Given the description of an element on the screen output the (x, y) to click on. 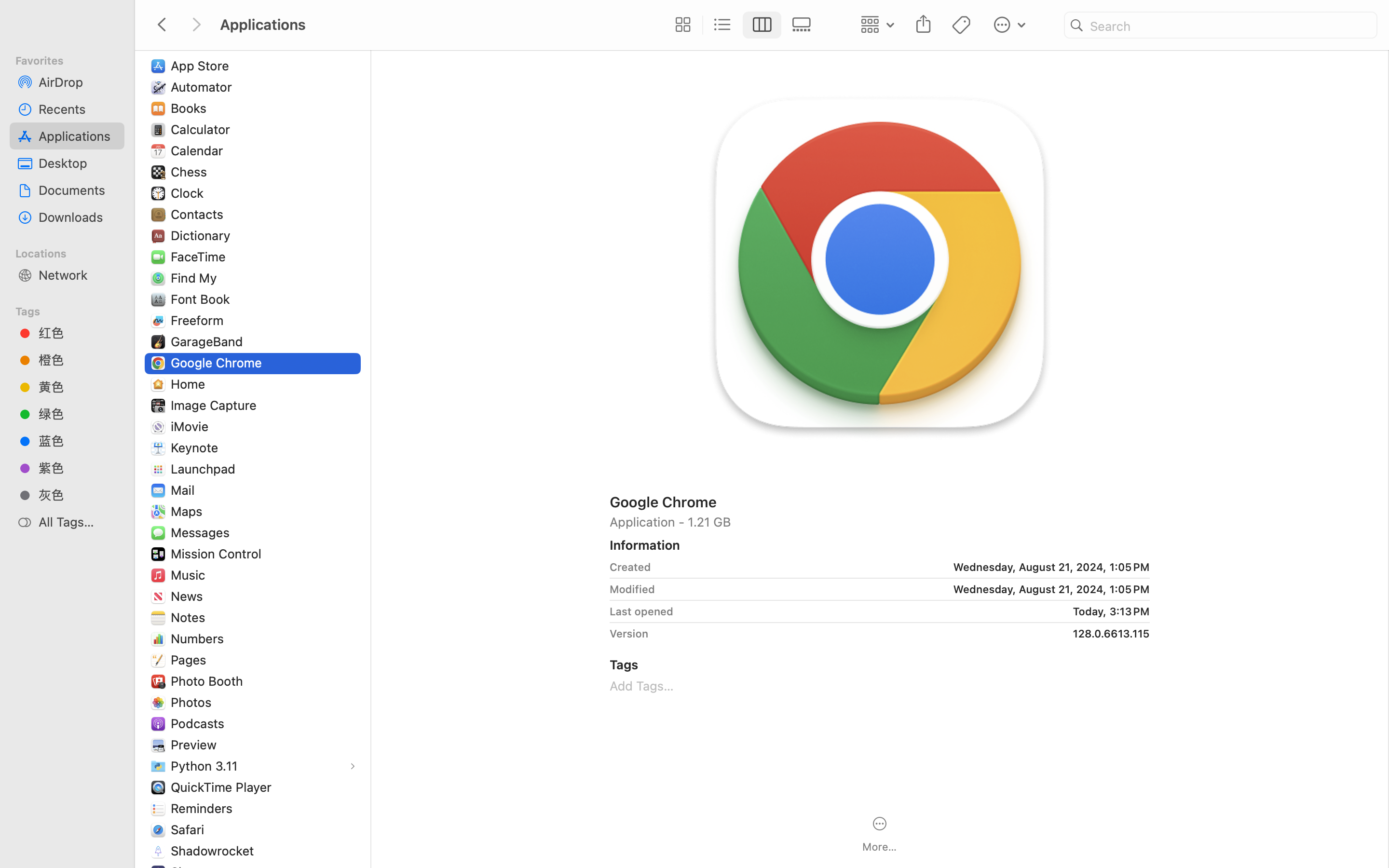
Safari Element type: AXTextField (189, 829)
QuickTime Player Element type: AXTextField (222, 786)
灰色 Element type: AXStaticText (77, 494)
Calculator Element type: AXTextField (202, 128)
All Tags… Element type: AXStaticText (77, 521)
